Given the description of an element on the screen output the (x, y) to click on. 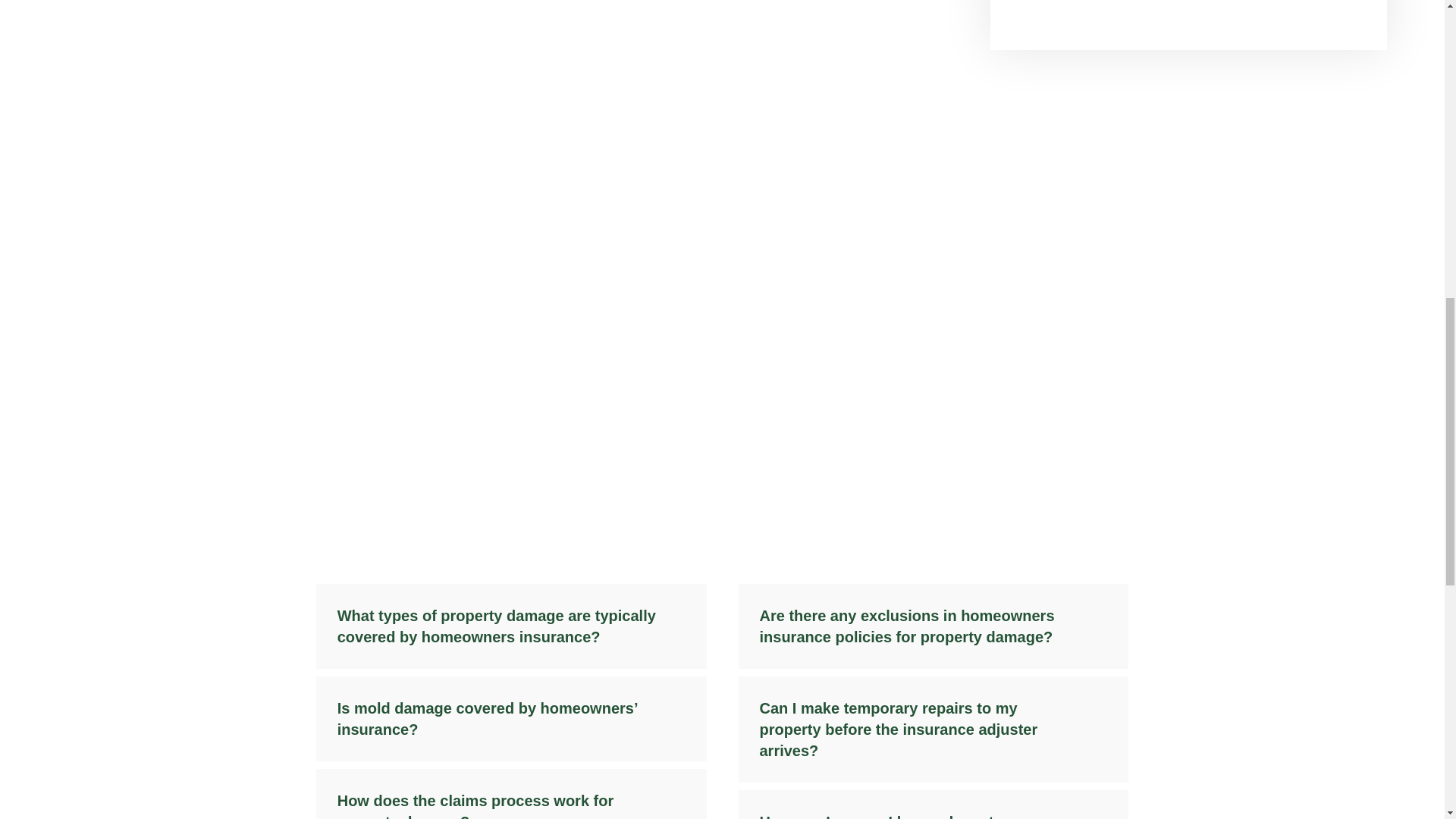
How does the claims process work for property damage? (510, 794)
